Given the description of an element on the screen output the (x, y) to click on. 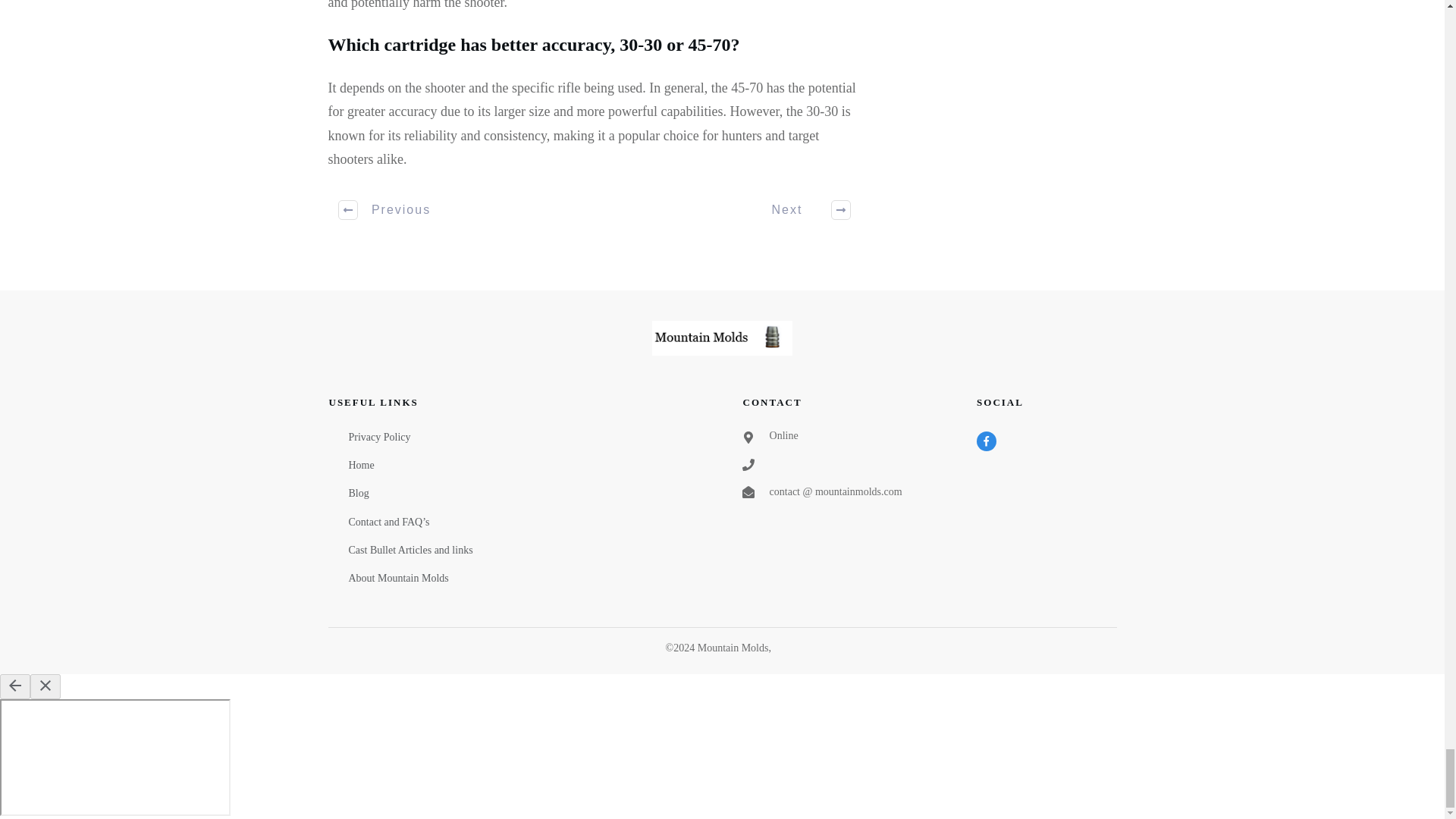
Privacy Policy (379, 436)
Blog (359, 493)
Next (802, 209)
Previous (385, 209)
Home (361, 465)
